Given the description of an element on the screen output the (x, y) to click on. 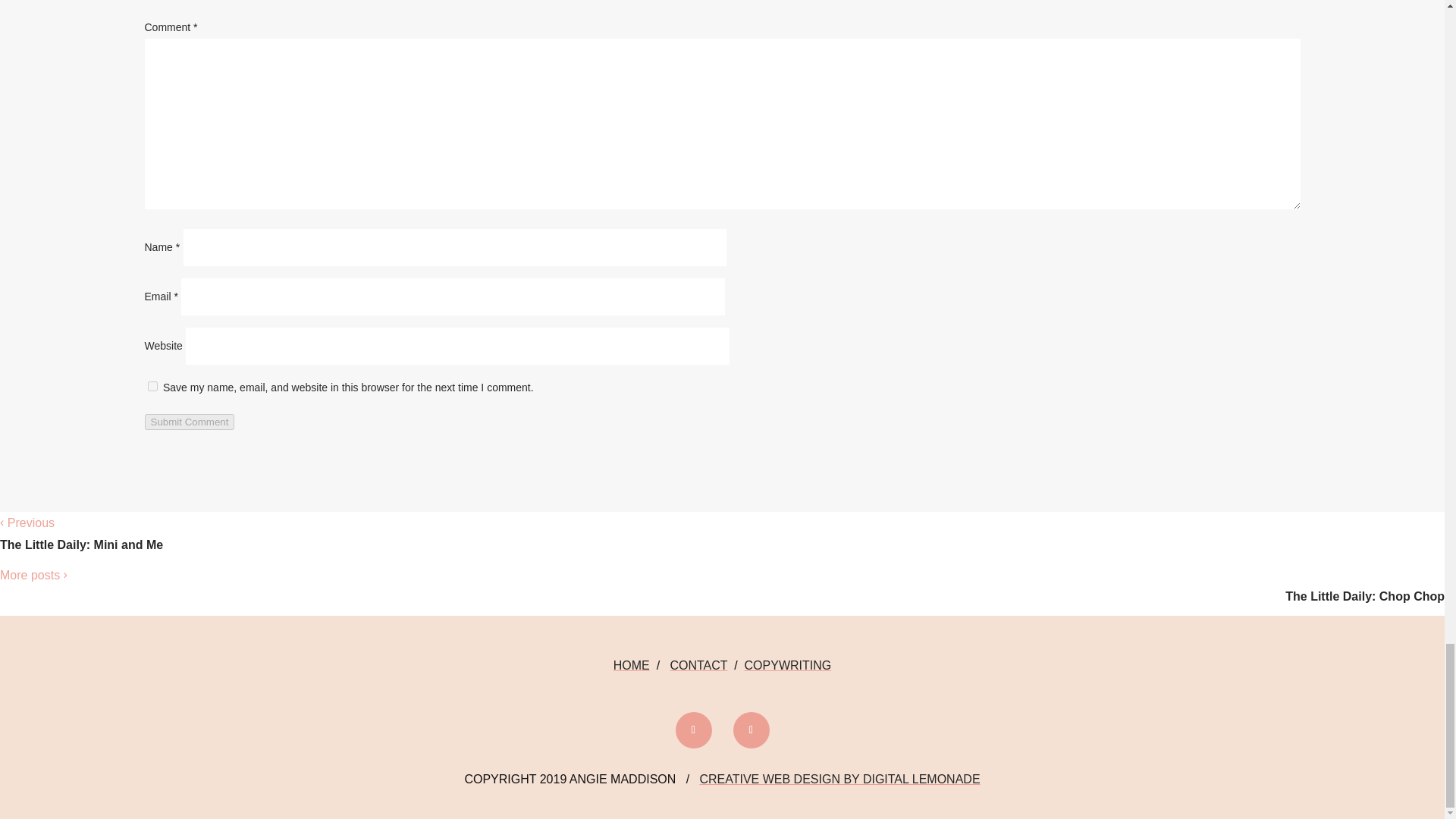
Follow on Instagram (750, 729)
yes (152, 386)
Follow on Facebook (693, 729)
